Given the description of an element on the screen output the (x, y) to click on. 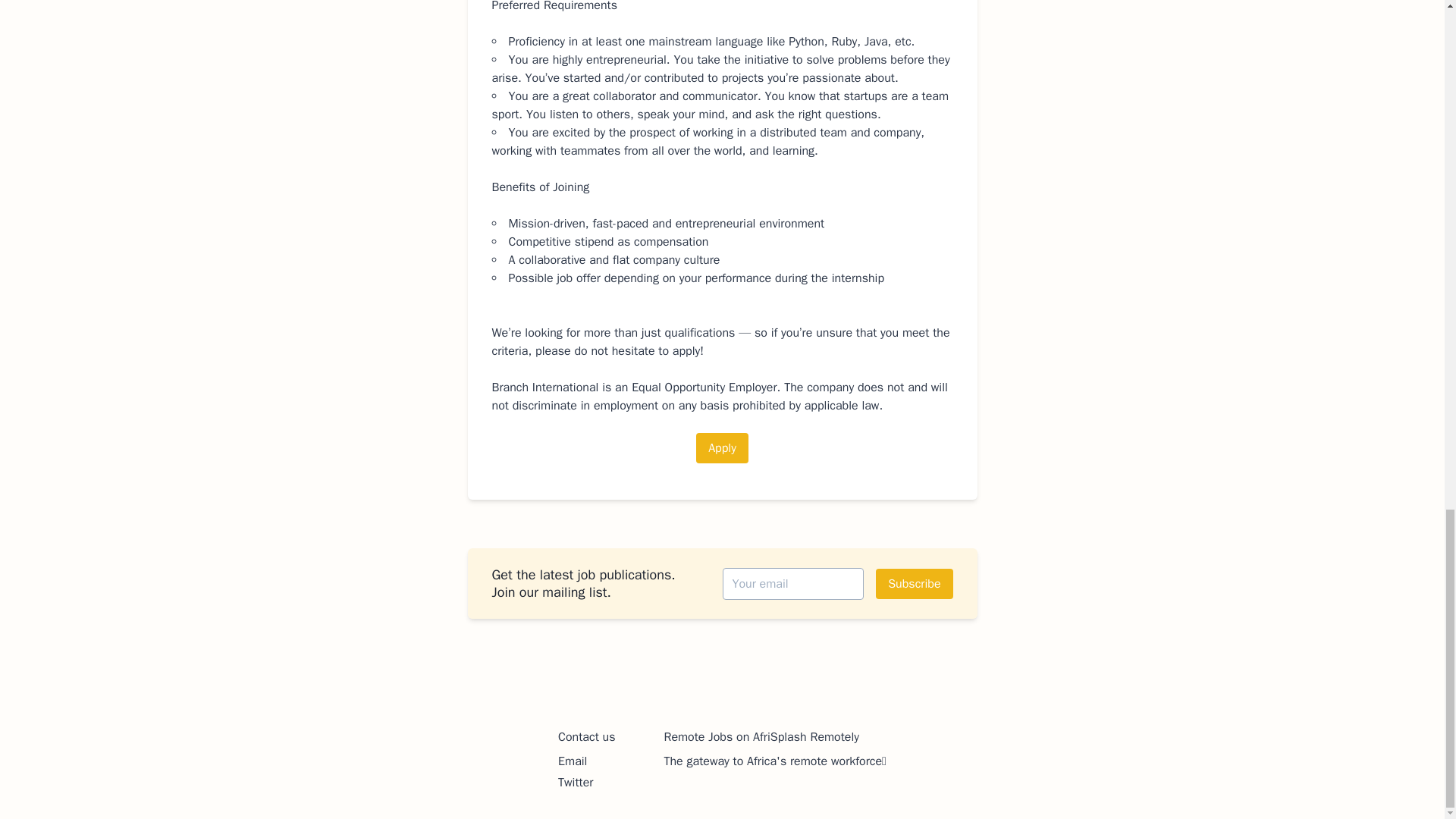
Twitter (574, 782)
Email (571, 761)
Subscribe (914, 583)
Remote Jobs on AfriSplash Remotely (761, 737)
Apply (721, 448)
